Given the description of an element on the screen output the (x, y) to click on. 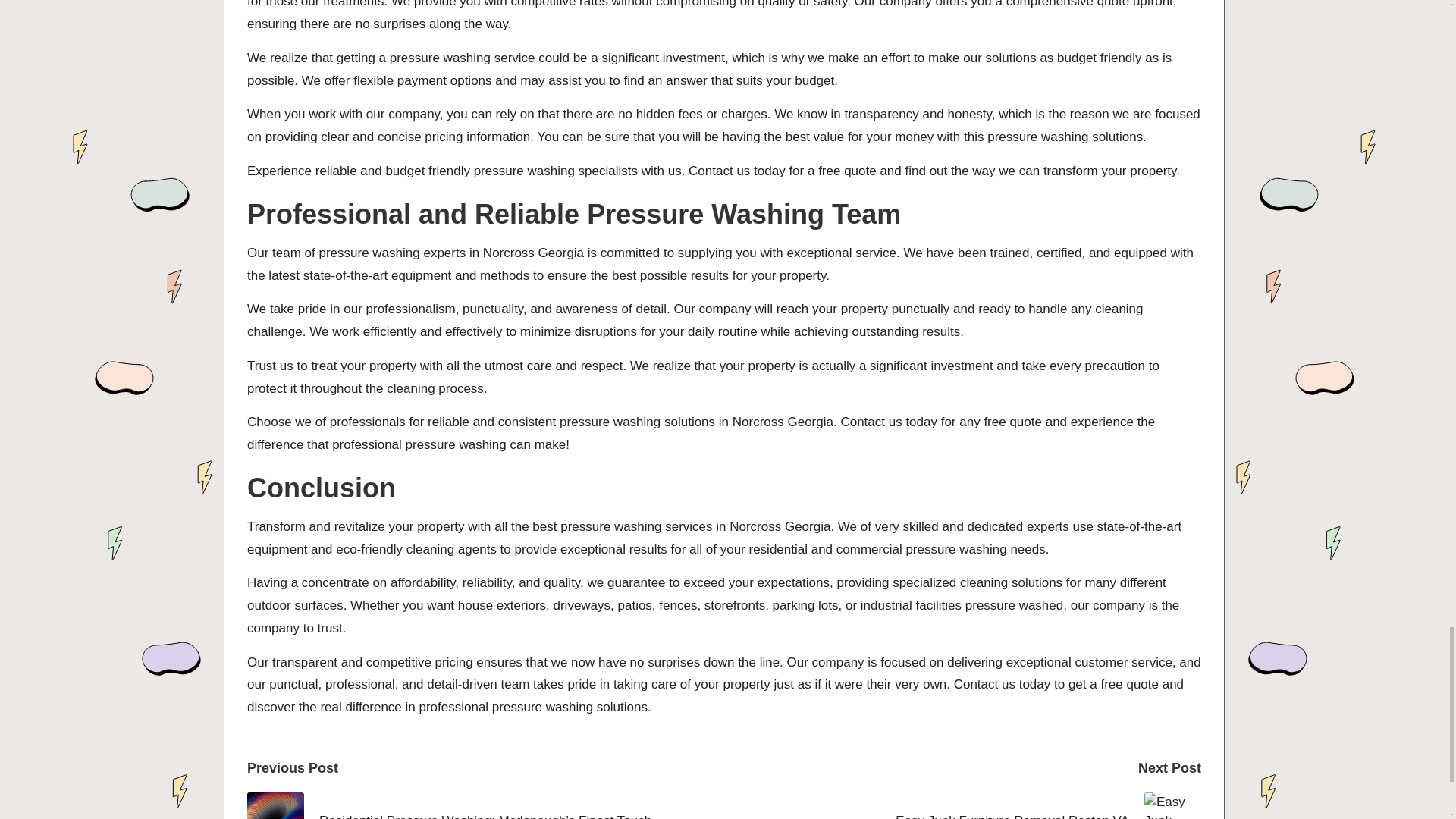
Easy Junk Furniture Removal Reston VA (962, 805)
